Given the description of an element on the screen output the (x, y) to click on. 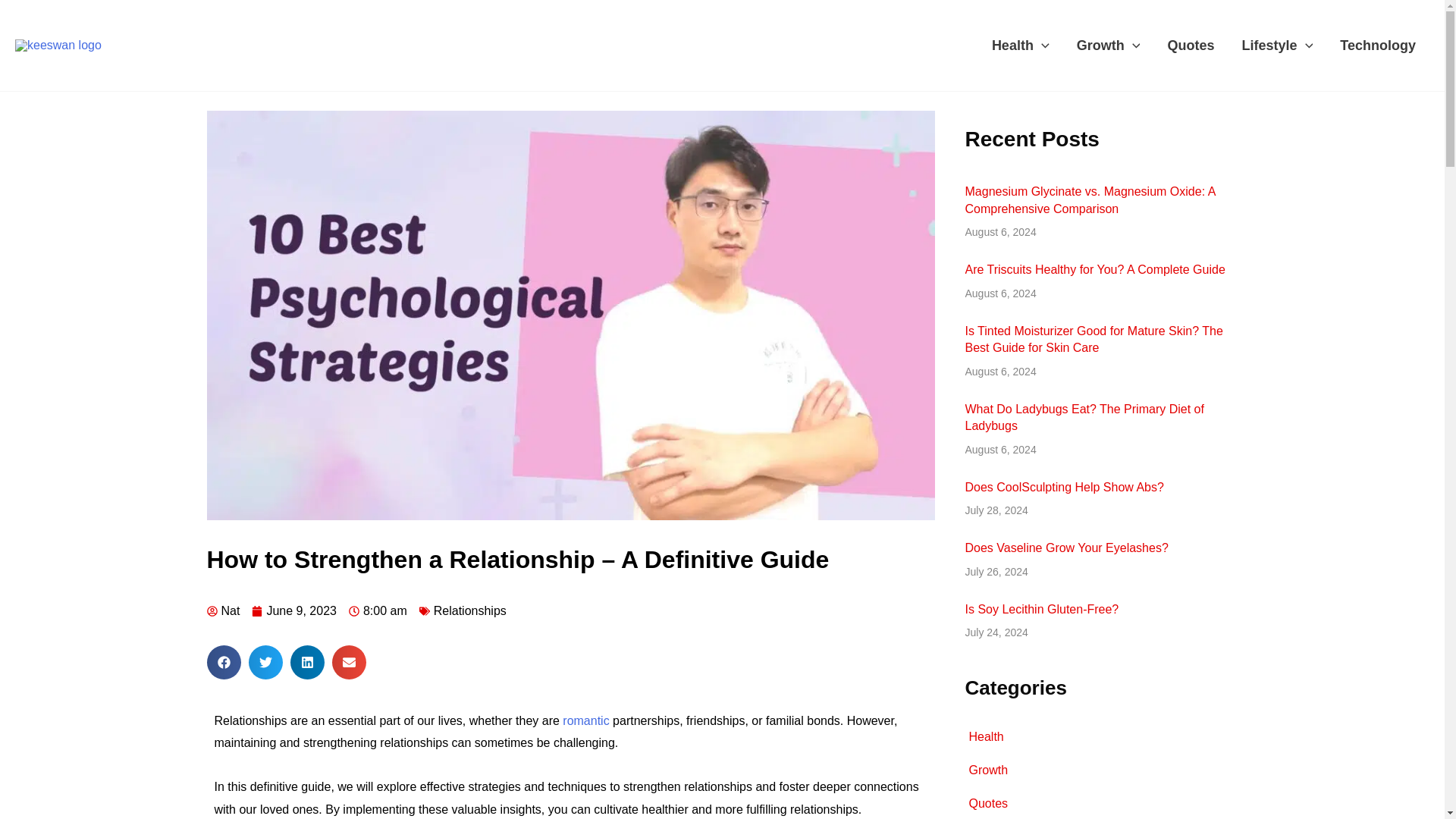
Health (1020, 45)
Technology (1377, 45)
Lifestyle (1277, 45)
Nat (223, 610)
Relationships (469, 610)
Growth (1108, 45)
romantic (585, 720)
